Given the description of an element on the screen output the (x, y) to click on. 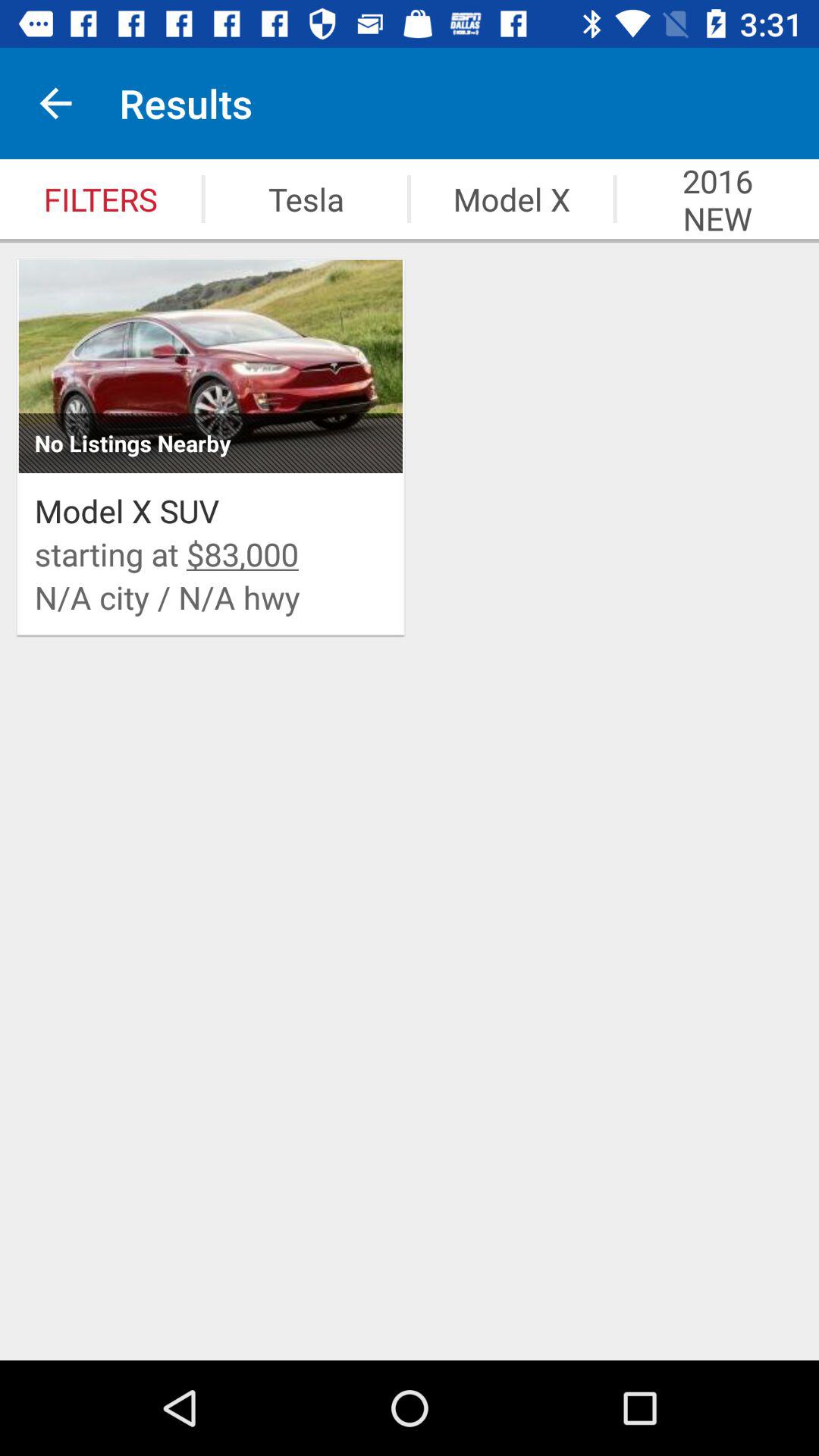
click item below the n a city icon (409, 1310)
